Given the description of an element on the screen output the (x, y) to click on. 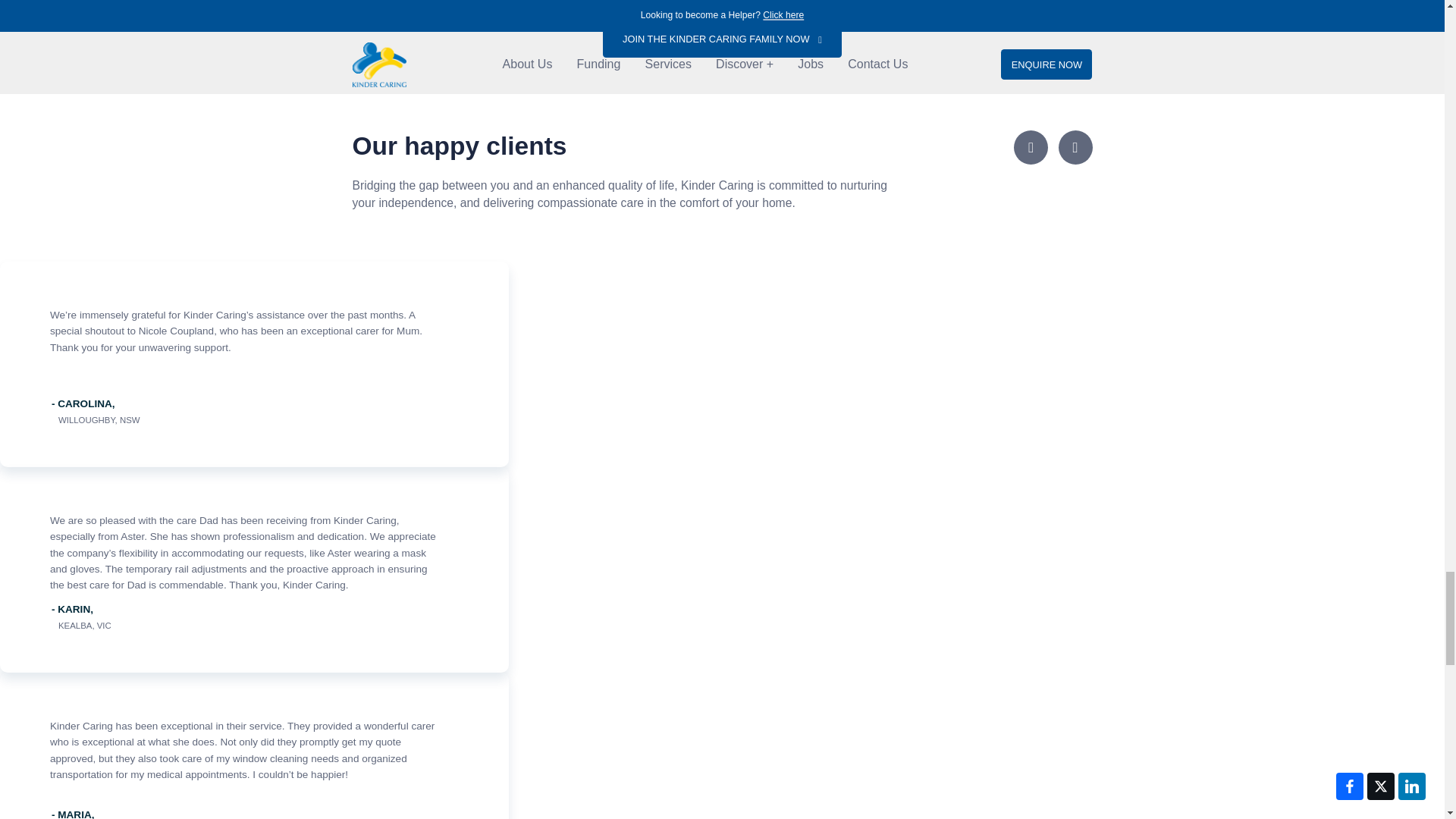
JOIN THE KINDER CARING FAMILY NOW (721, 39)
